Given the description of an element on the screen output the (x, y) to click on. 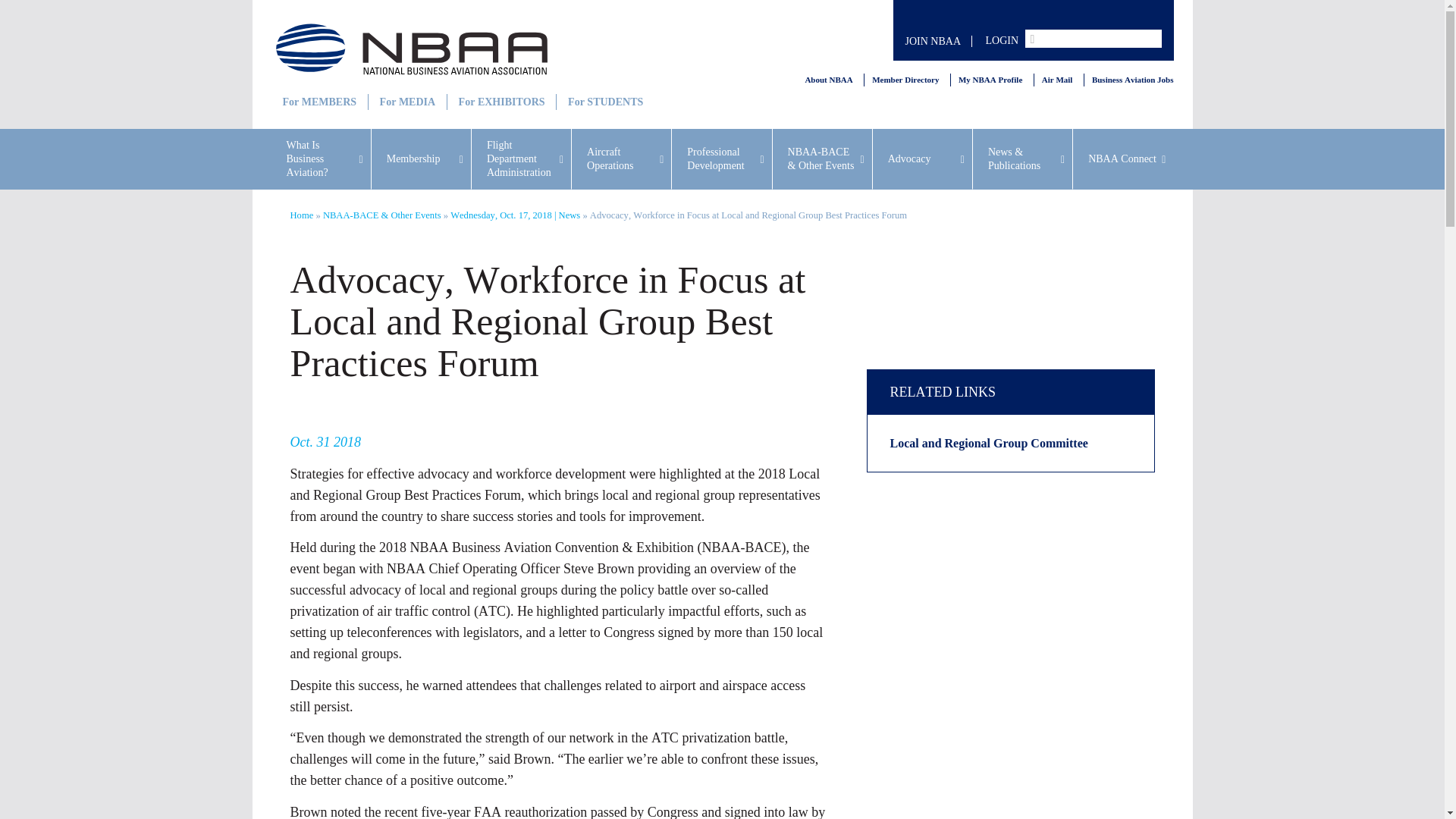
Air Mail (1056, 79)
Search for: (1093, 38)
Exhibitors (499, 101)
What Is Business Aviation? (320, 158)
Membership (420, 158)
Member Directory (905, 79)
Students (603, 101)
Members (317, 101)
My NBAA Profile (989, 79)
Media (406, 101)
Business aviation jobs (1132, 79)
About NBAA (828, 79)
